Given the description of an element on the screen output the (x, y) to click on. 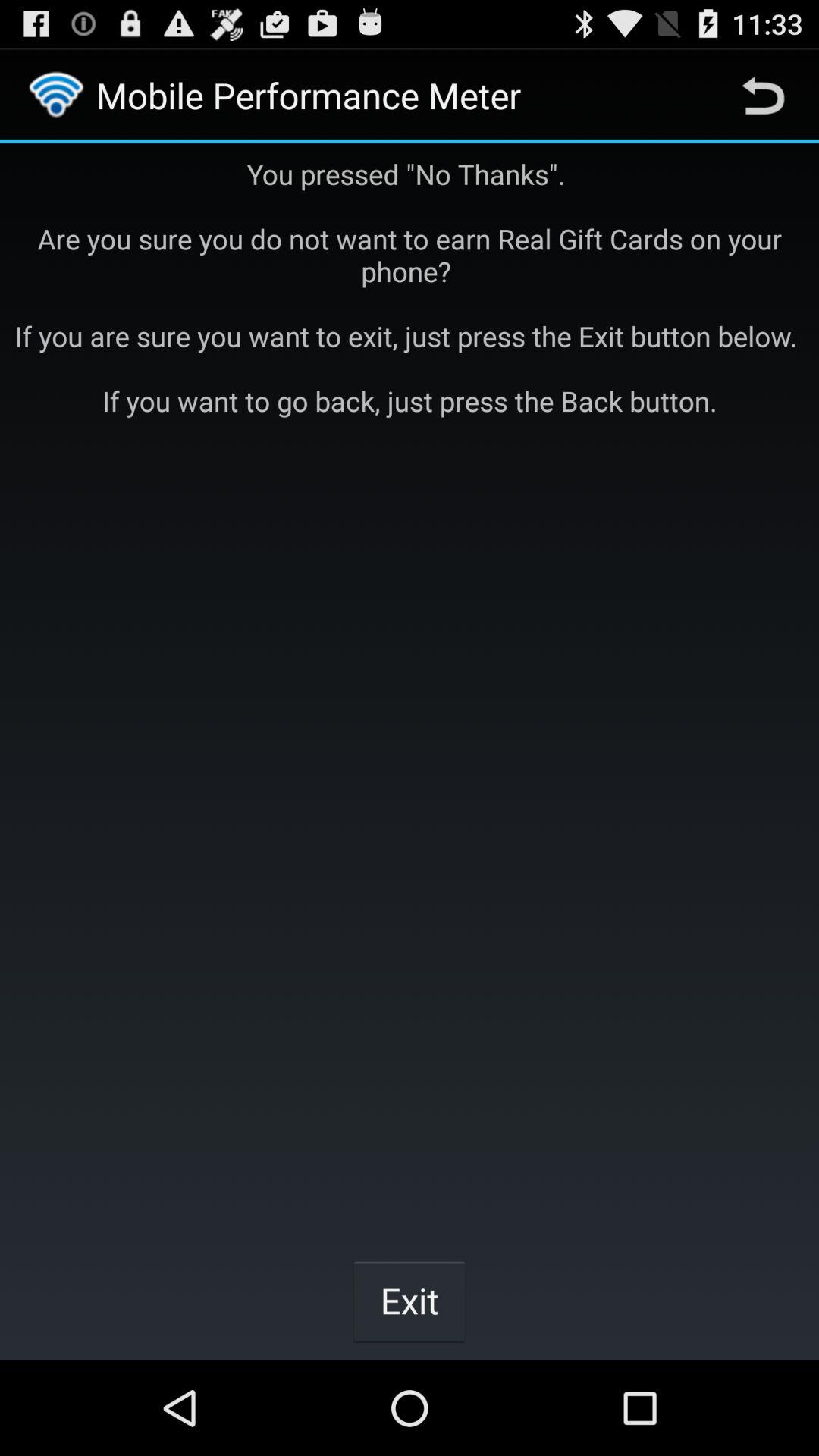
turn off icon to the right of mobile performance meter app (763, 95)
